Given the description of an element on the screen output the (x, y) to click on. 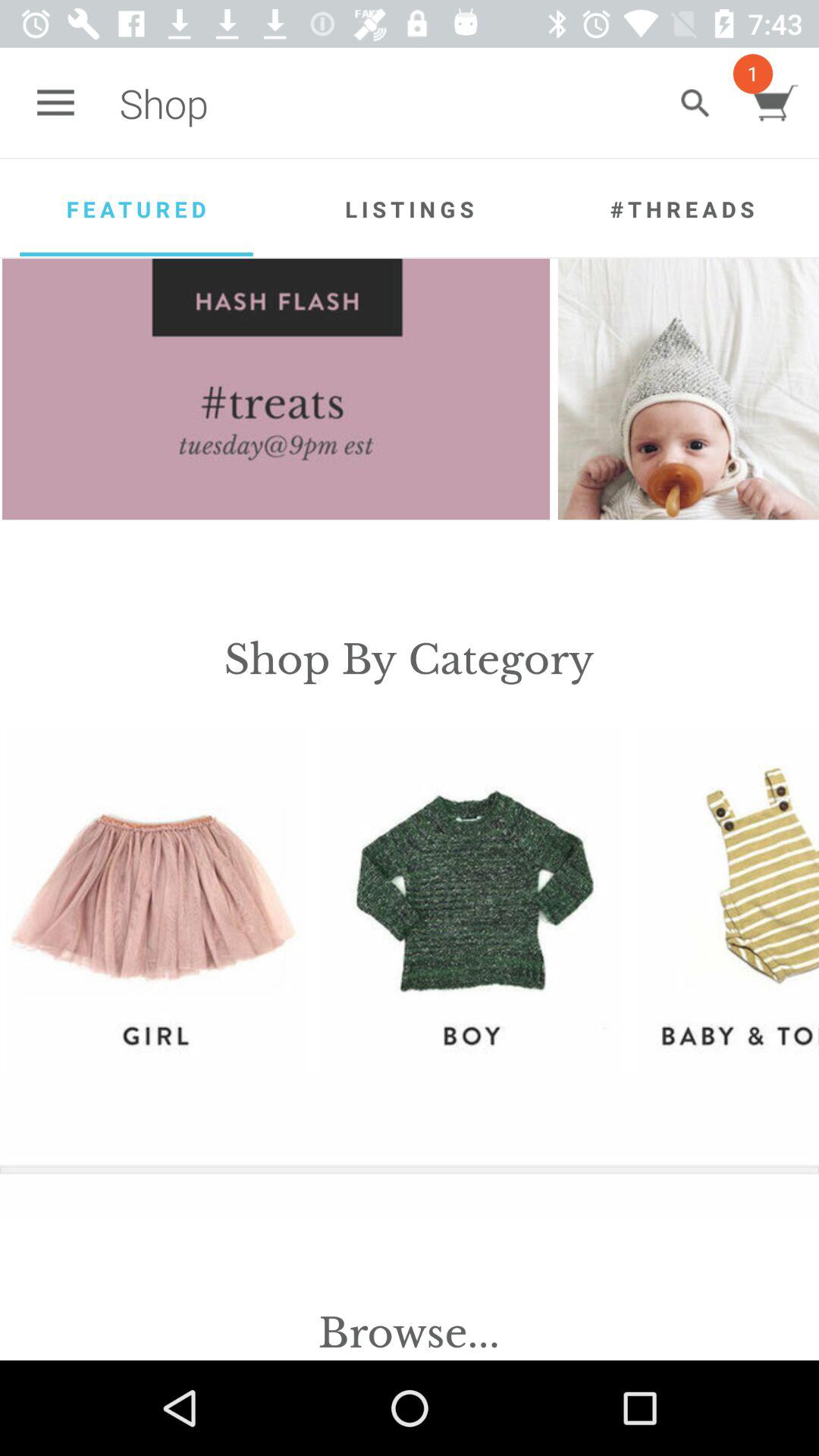
shop boy clothing (469, 899)
